Given the description of an element on the screen output the (x, y) to click on. 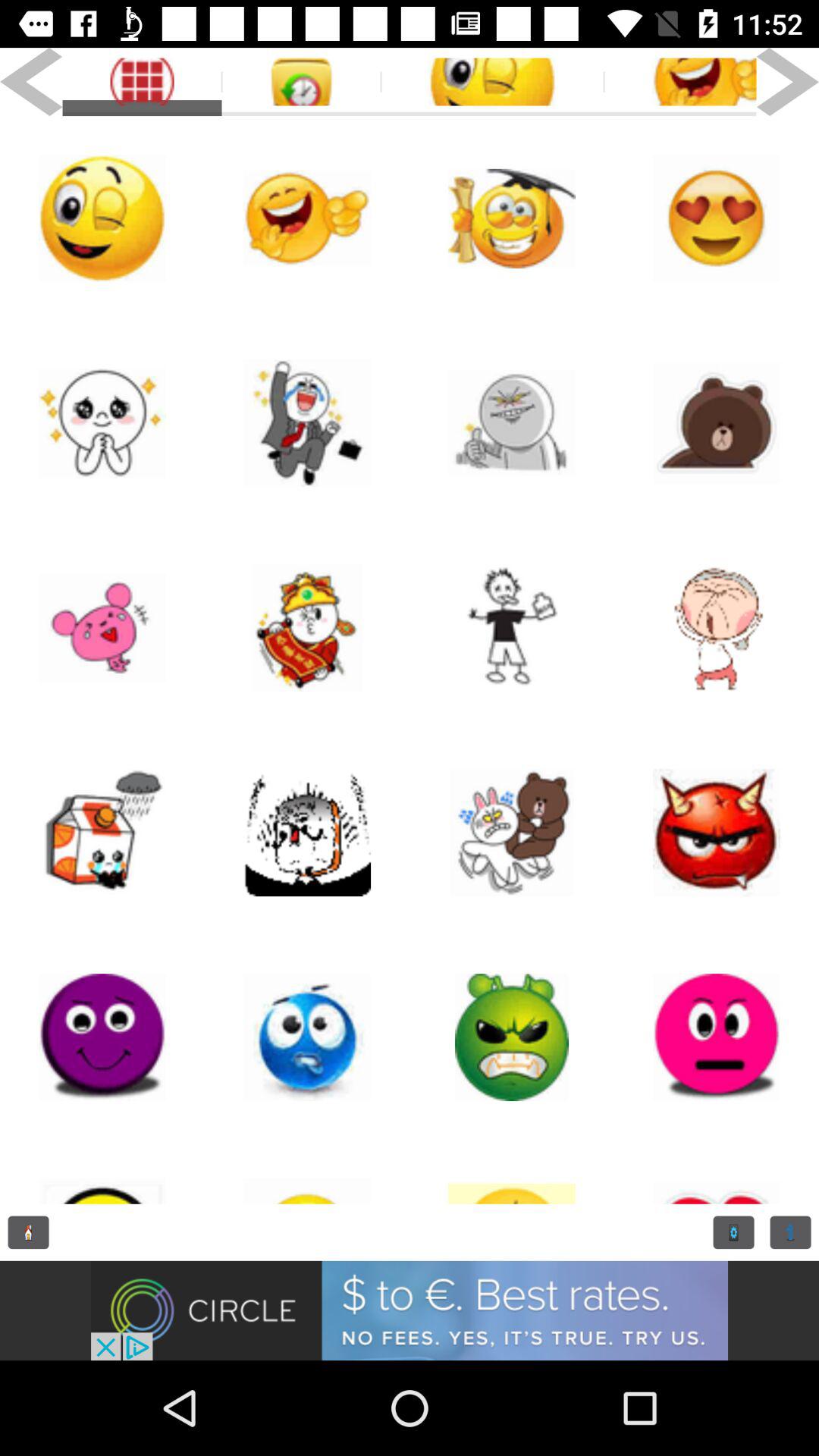
sticker (511, 218)
